Given the description of an element on the screen output the (x, y) to click on. 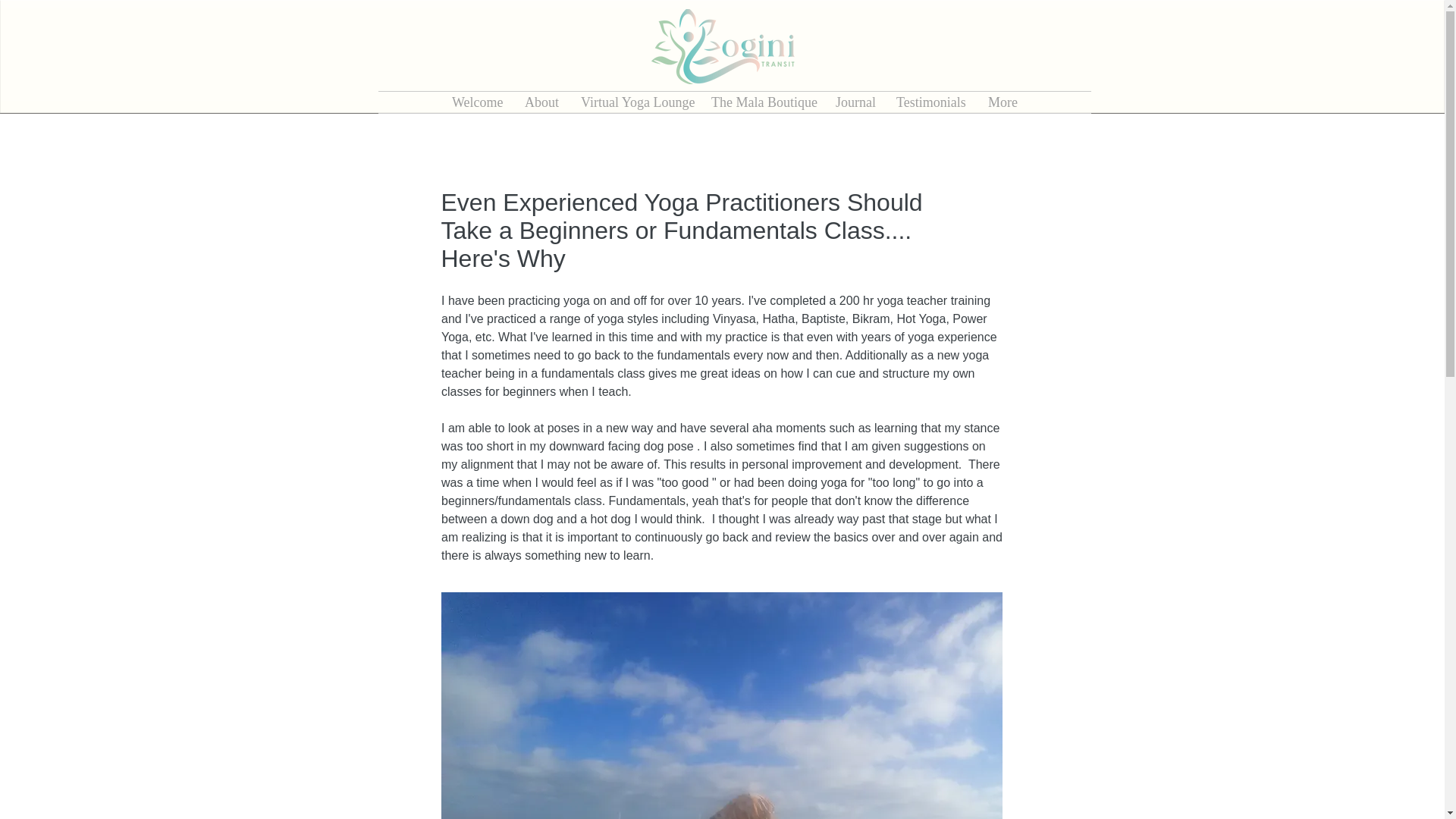
About (541, 102)
Journal (854, 102)
Welcome (477, 102)
Virtual Yoga Lounge (634, 102)
Testimonials (930, 102)
The Mala Boutique (762, 102)
